Given the description of an element on the screen output the (x, y) to click on. 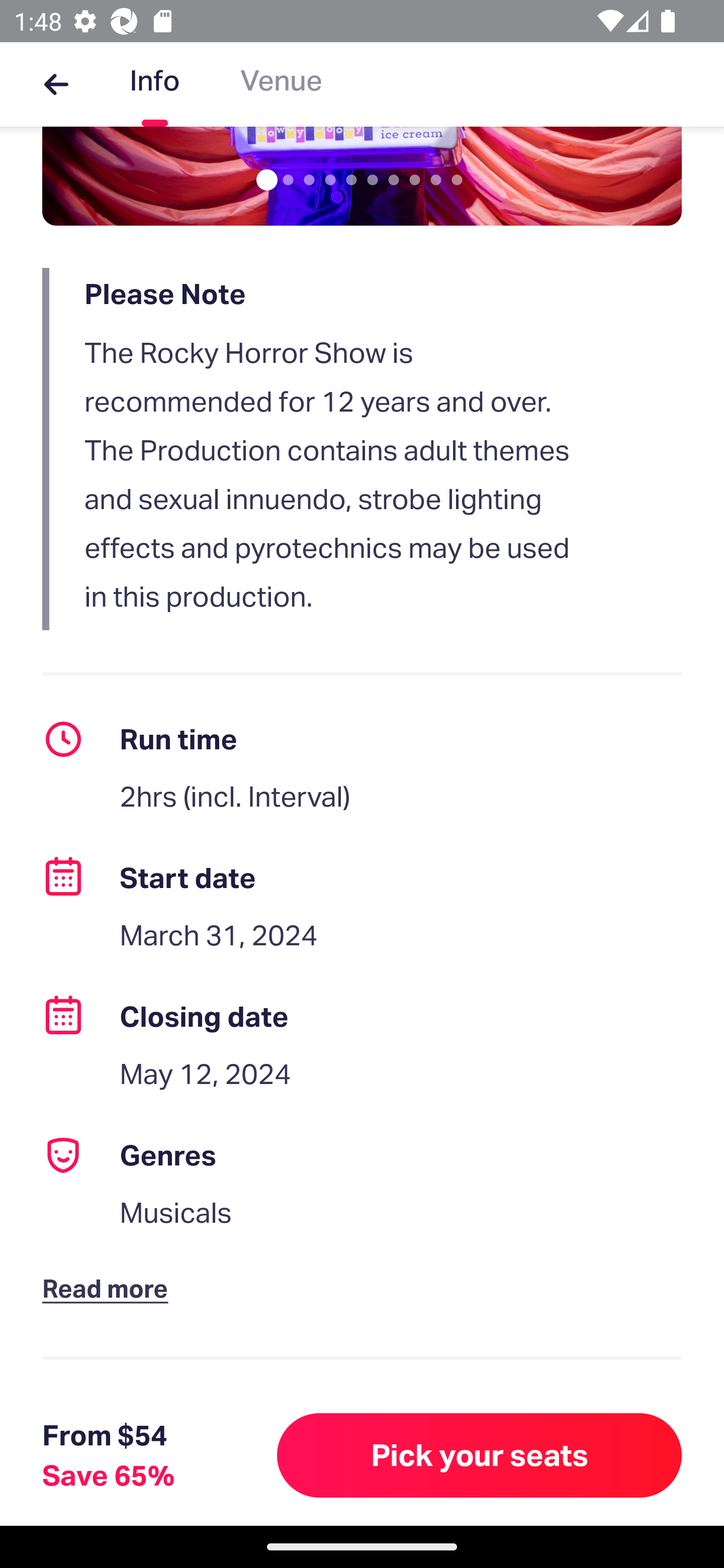
Venue (280, 84)
Read more (109, 1271)
Pick your seats (479, 1454)
